Given the description of an element on the screen output the (x, y) to click on. 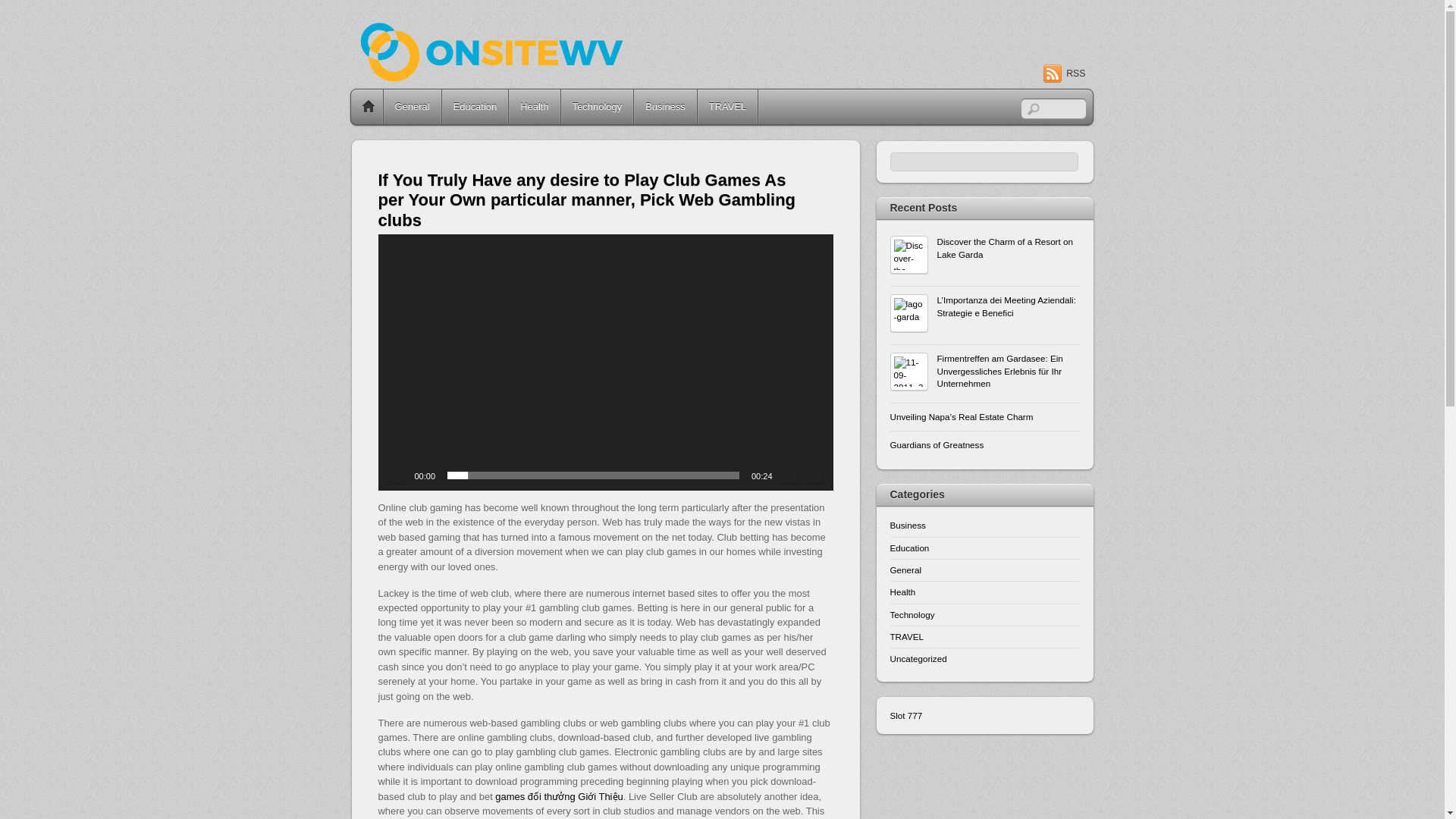
Home (367, 106)
General (412, 106)
Technology (596, 106)
Technology (911, 614)
TRAVEL (906, 636)
Business (665, 106)
Discover the Charm of a Resort on Lake Garda (984, 248)
Guardians of Greatness (984, 444)
New 25 logo-25 (527, 65)
Health (902, 592)
Mute (788, 475)
Fullscreen (813, 475)
Slot 777 (906, 715)
Search (983, 161)
